Given the description of an element on the screen output the (x, y) to click on. 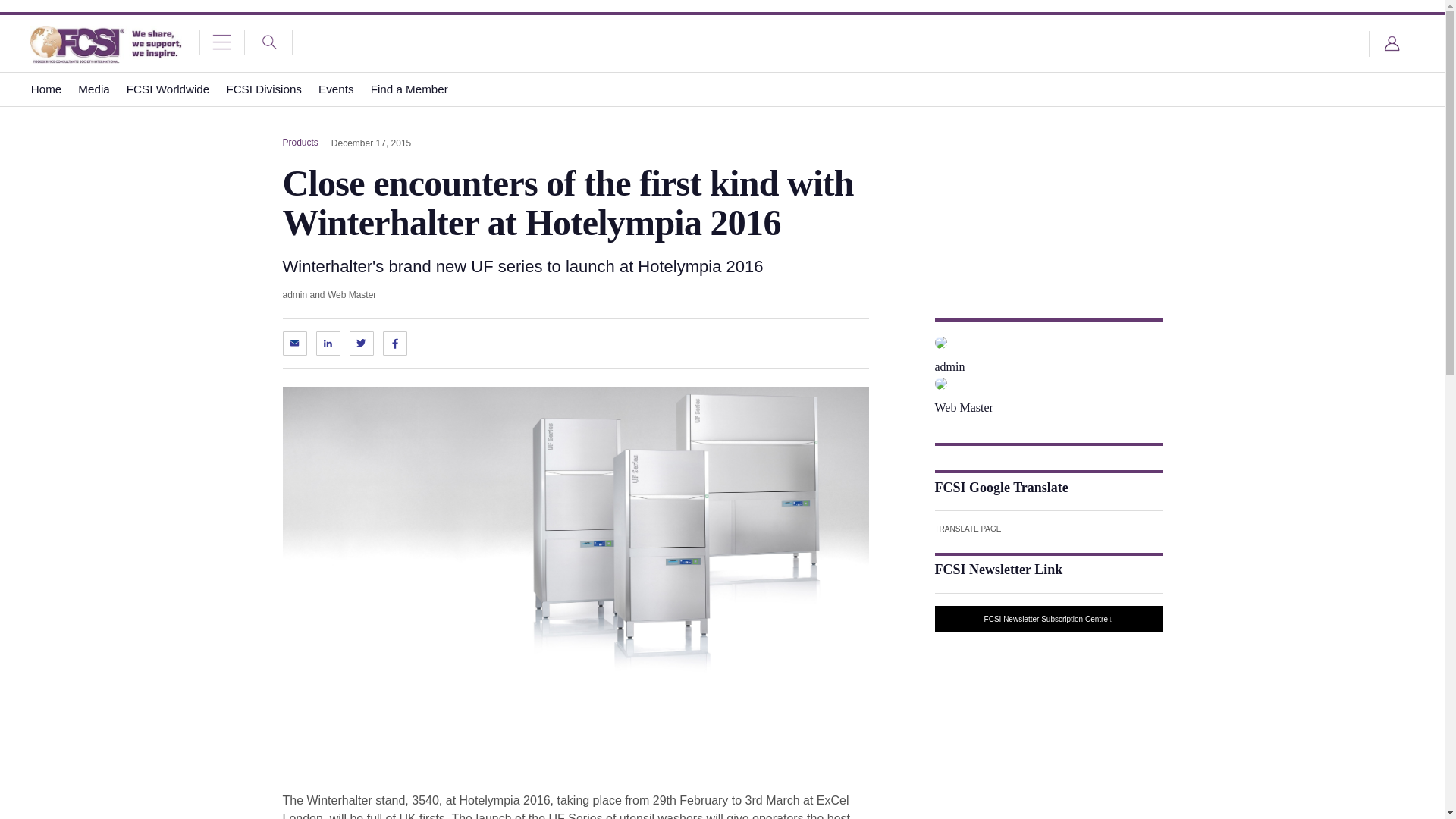
Media (93, 89)
Home (46, 89)
Login (1391, 43)
